Given the description of an element on the screen output the (x, y) to click on. 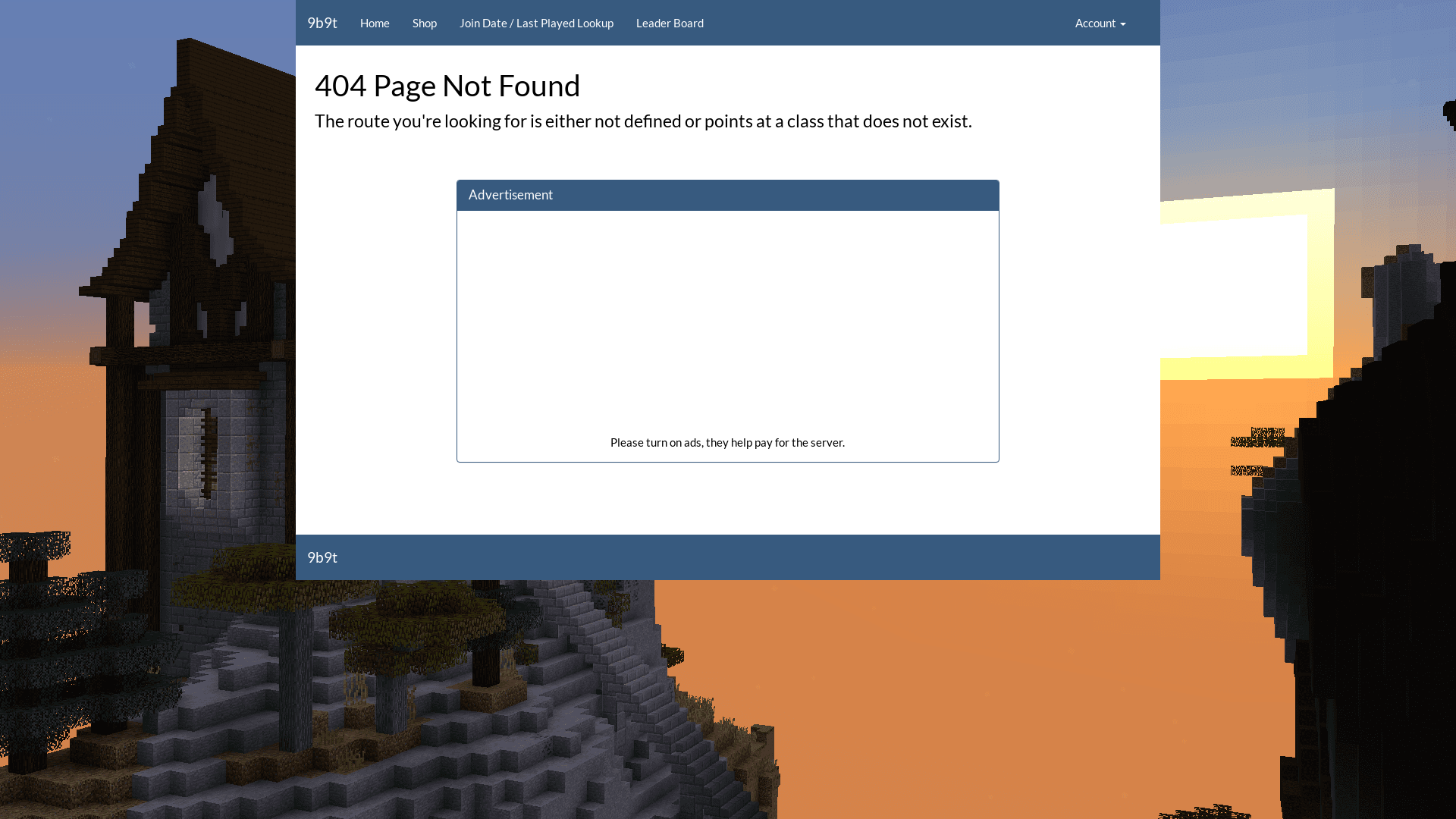
Leader Board Element type: text (669, 22)
Advertisement Element type: hover (728, 328)
9b9t Element type: text (321, 22)
9b9t Element type: text (321, 557)
Home Element type: text (374, 22)
Advertisement Element type: text (510, 194)
Join Date / Last Played Lookup Element type: text (536, 22)
Shop Element type: text (424, 22)
Account Element type: text (1100, 22)
